Given the description of an element on the screen output the (x, y) to click on. 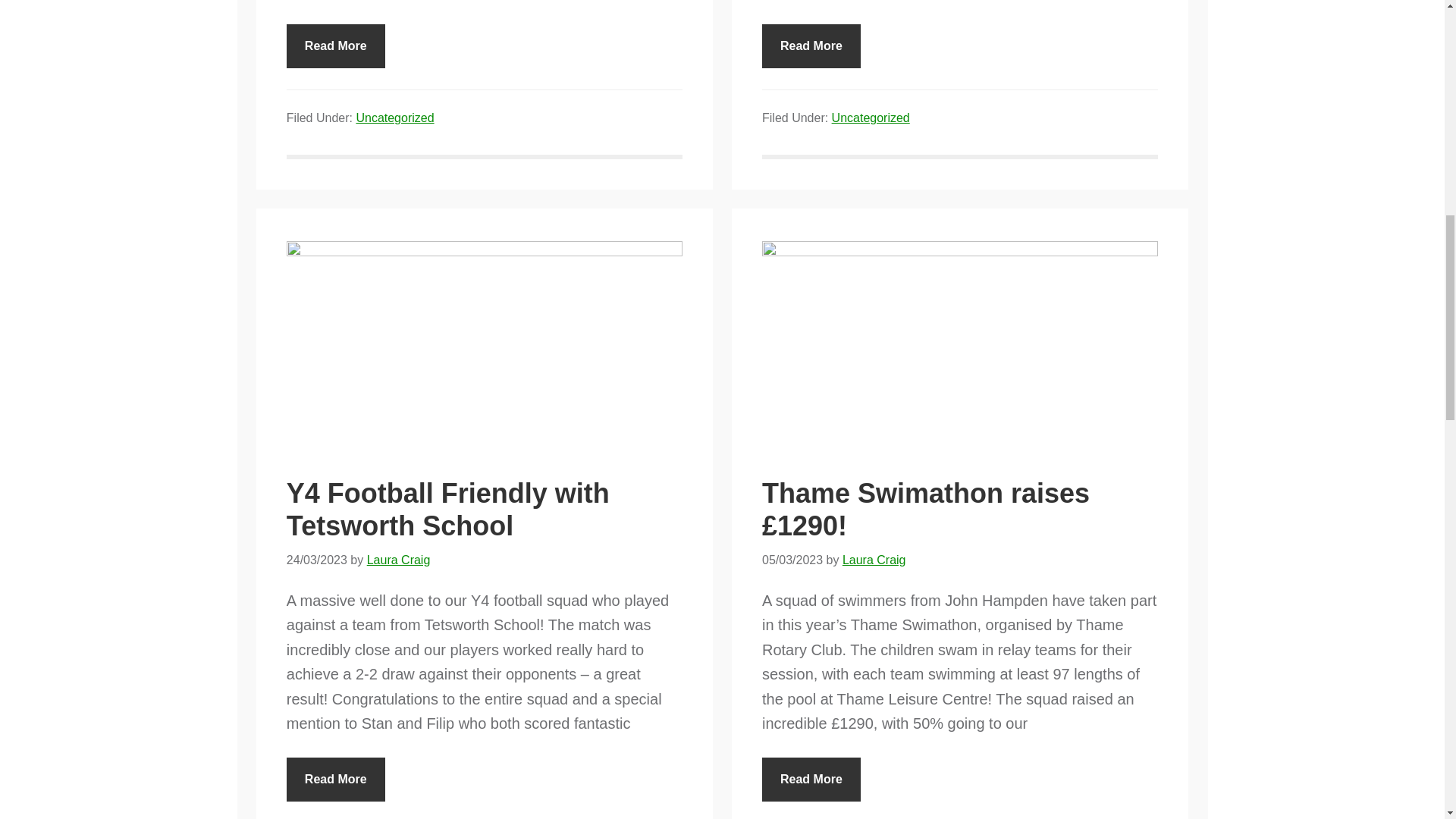
Laura Craig (874, 559)
Read More (335, 779)
Laura Craig (398, 559)
Read More (335, 45)
Y4 Football Friendly with Tetsworth School (448, 509)
Uncategorized (394, 117)
Read More (810, 45)
Read More (810, 779)
Uncategorized (870, 117)
